Given the description of an element on the screen output the (x, y) to click on. 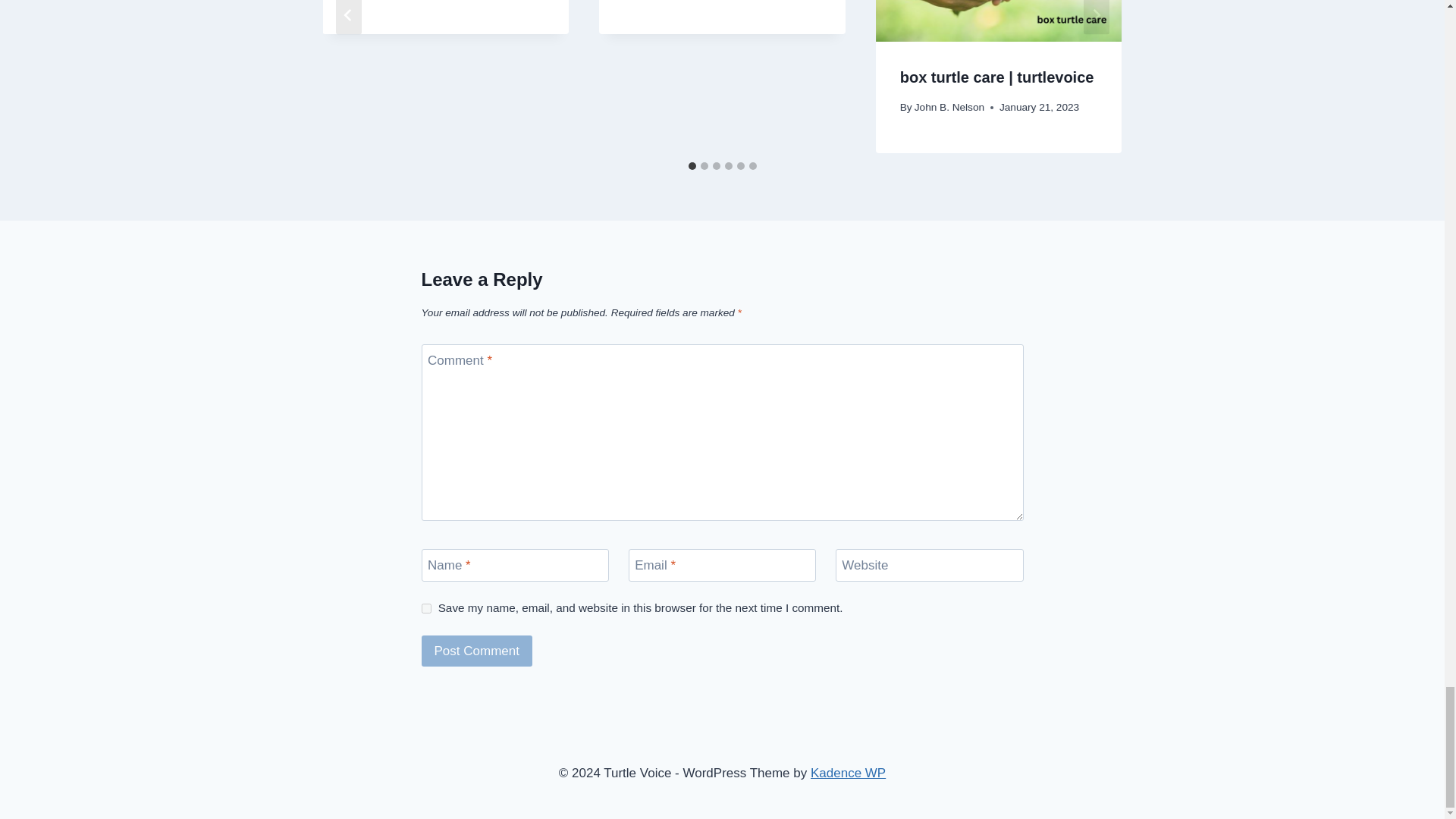
Post Comment (477, 650)
yes (426, 608)
